Given the description of an element on the screen output the (x, y) to click on. 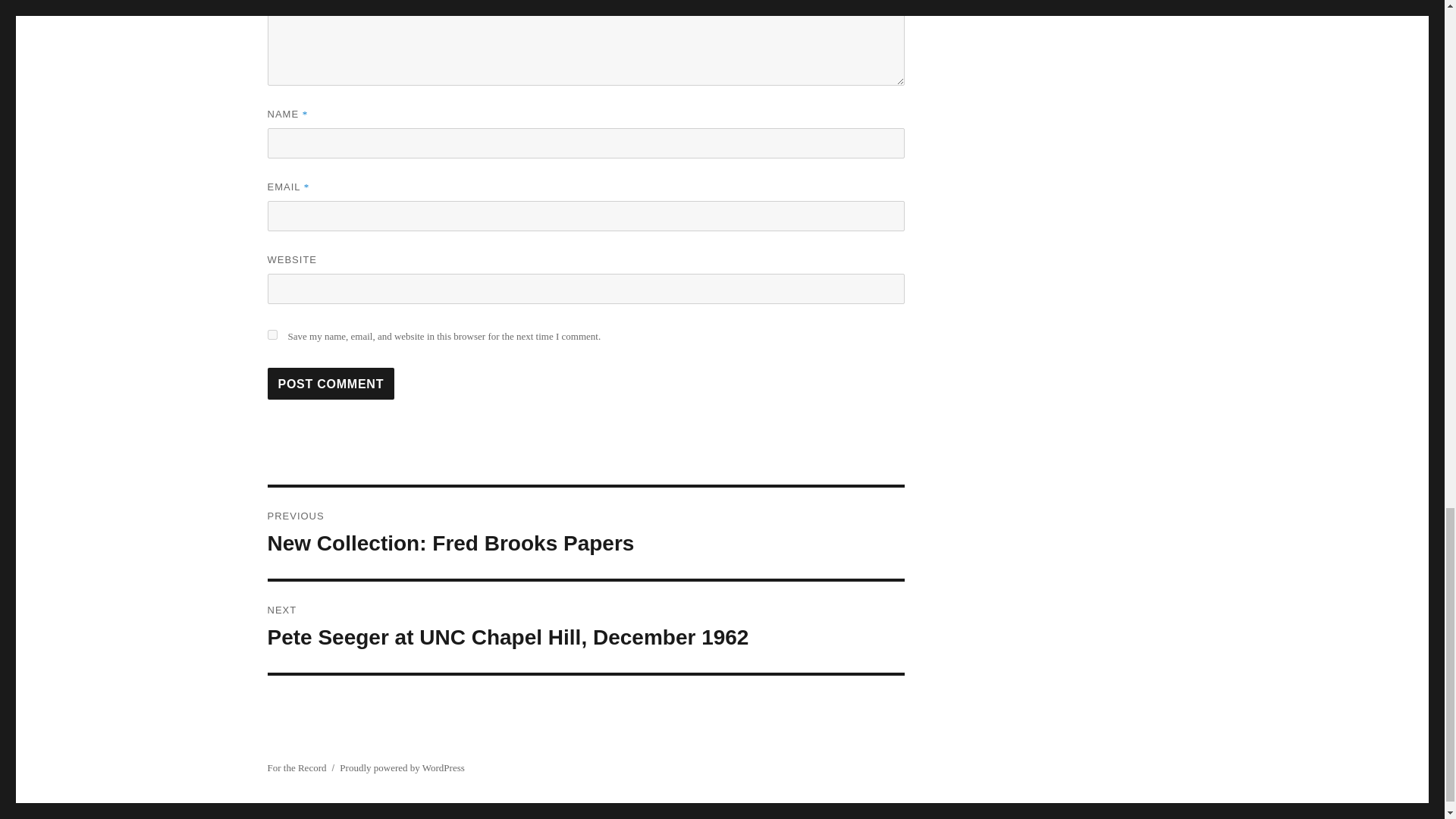
Post Comment (330, 383)
Post Comment (585, 532)
yes (330, 383)
